Given the description of an element on the screen output the (x, y) to click on. 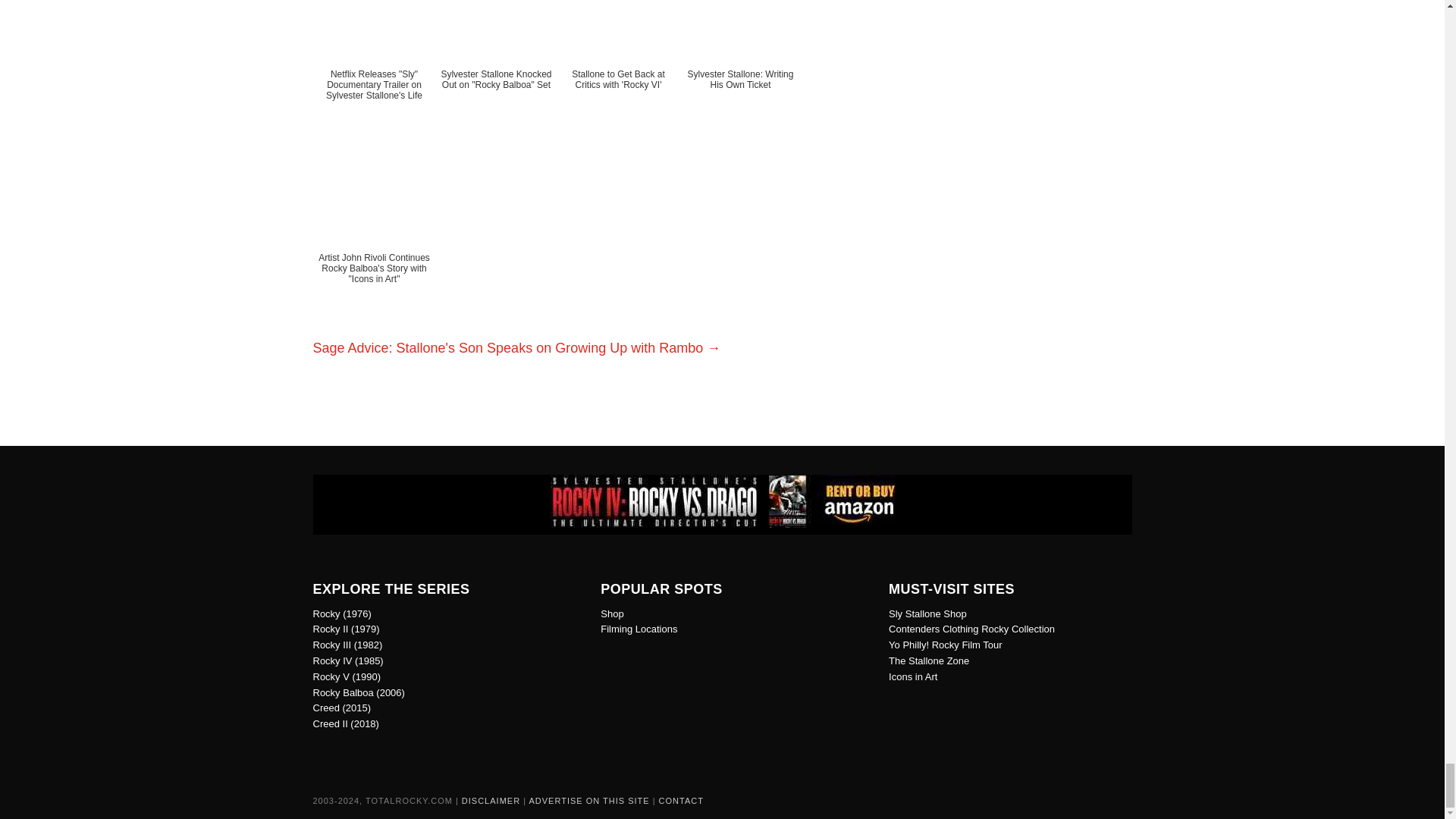
Stallone to Get Back at Critics with 'Rocky VI' (617, 63)
Sylvester Stallone Knocked Out on "Rocky Balboa" Set (496, 63)
